Given the description of an element on the screen output the (x, y) to click on. 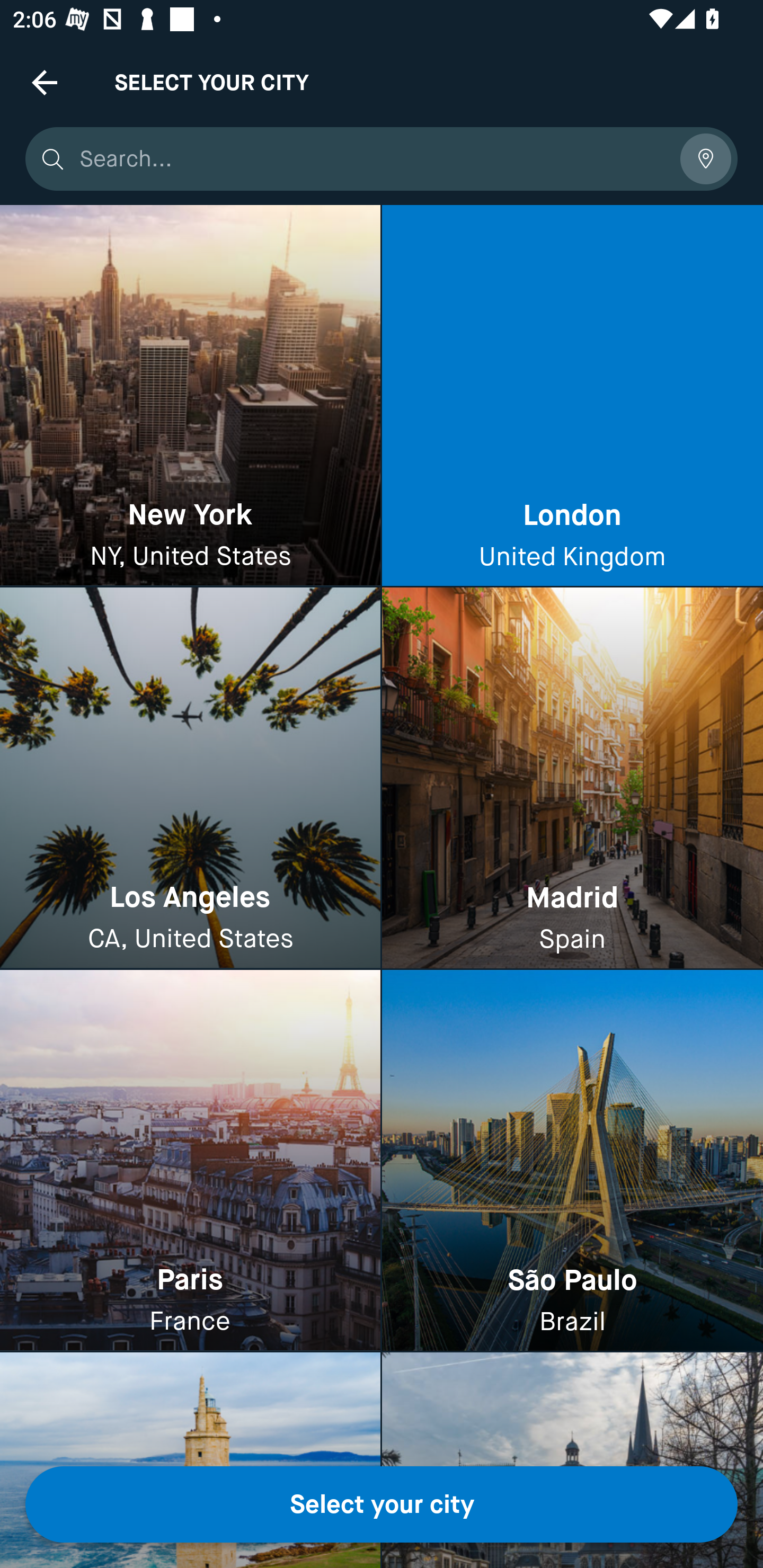
Navigate up (44, 82)
Search... (373, 159)
New York NY, United States (190, 395)
London United Kingdom (572, 395)
Los Angeles CA, United States (190, 778)
Madrid Spain (572, 778)
Paris France (190, 1160)
São Paulo Brazil (572, 1160)
Select your city (381, 1504)
